Given the description of an element on the screen output the (x, y) to click on. 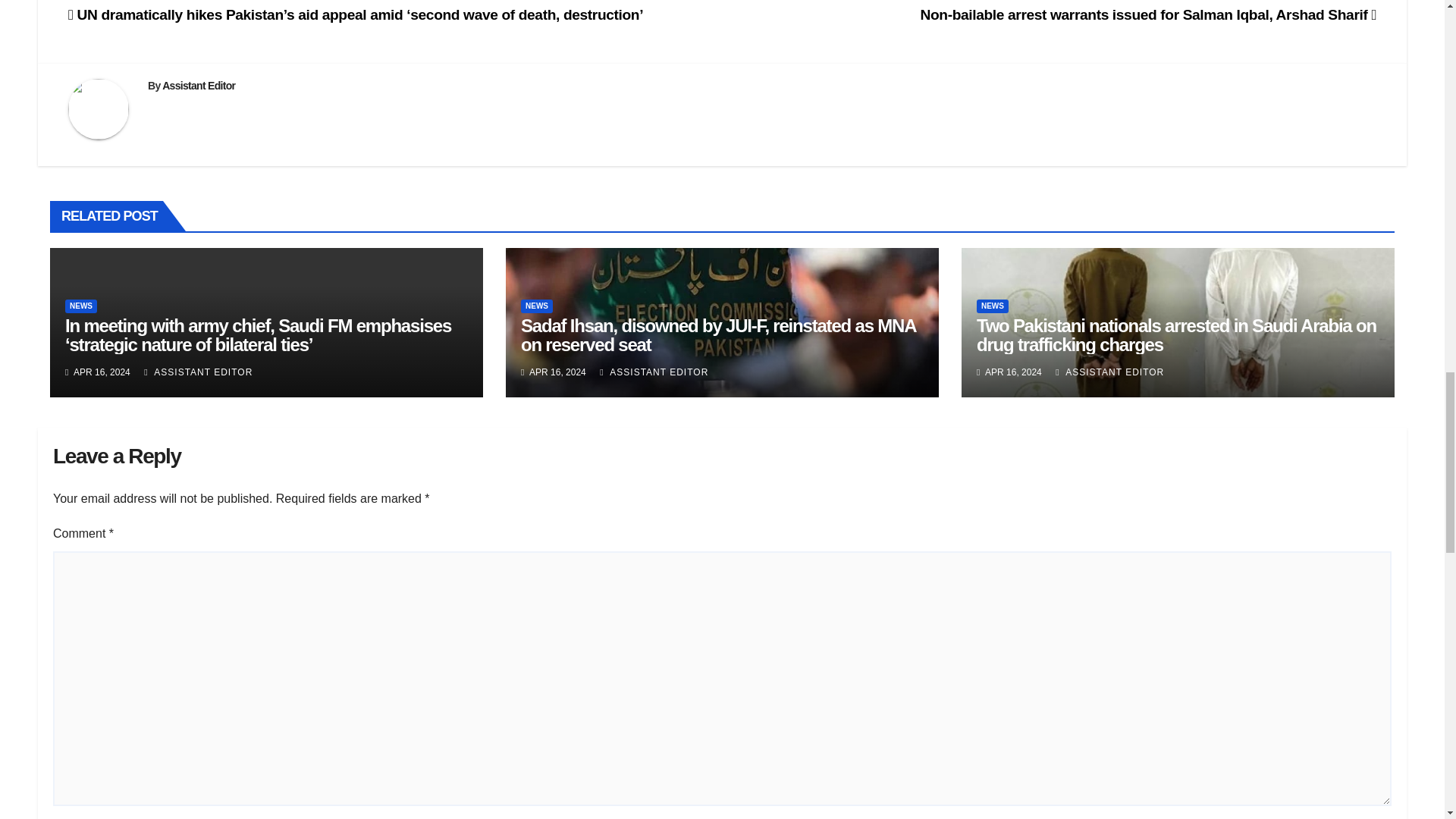
ASSISTANT EDITOR (653, 371)
ASSISTANT EDITOR (197, 371)
Assistant Editor (197, 85)
NEWS (81, 305)
NEWS (992, 305)
NEWS (537, 305)
